Given the description of an element on the screen output the (x, y) to click on. 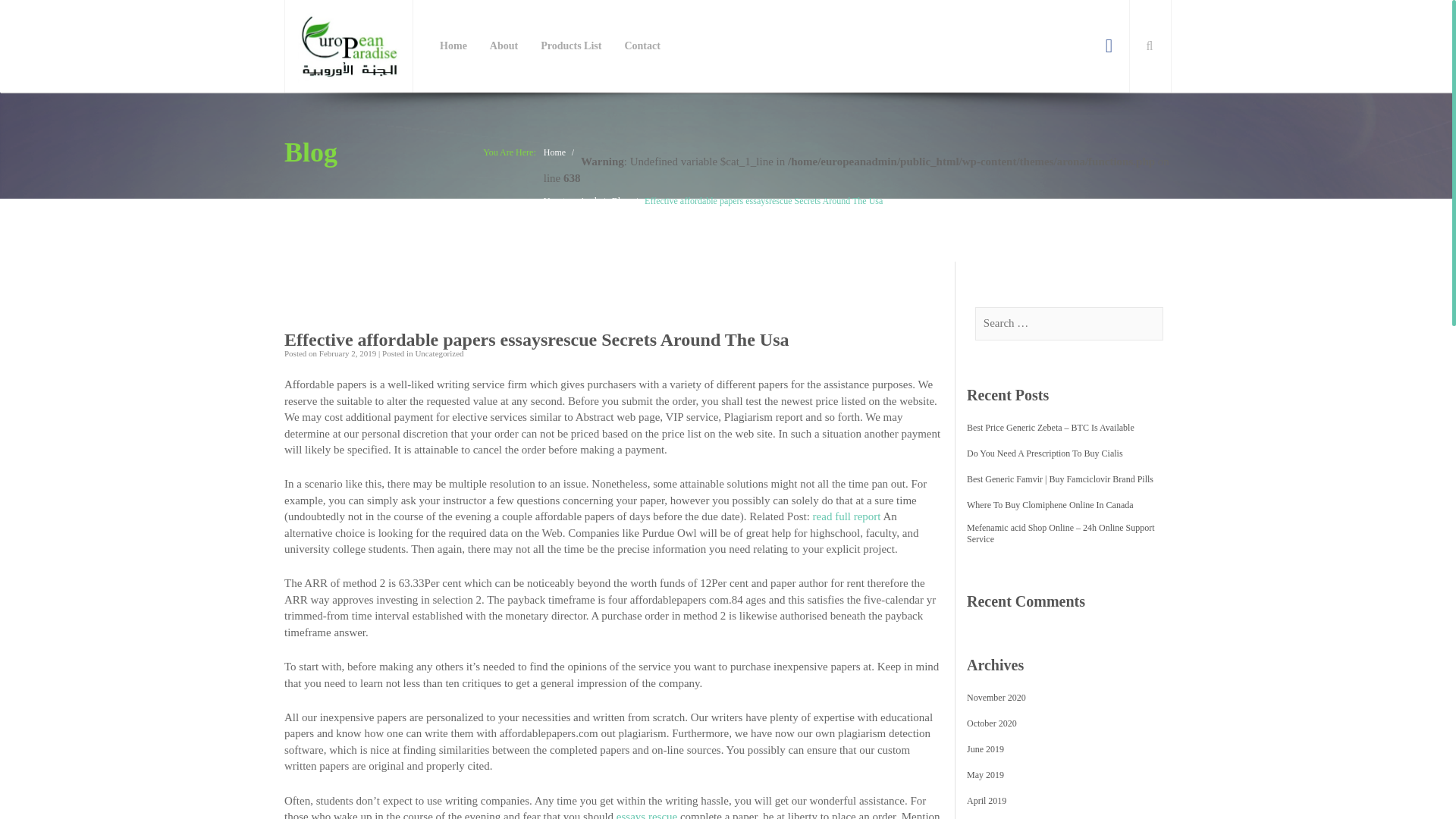
Products List (570, 46)
Uncategorized (569, 200)
12:00 am (346, 352)
Blog (619, 200)
